Given the description of an element on the screen output the (x, y) to click on. 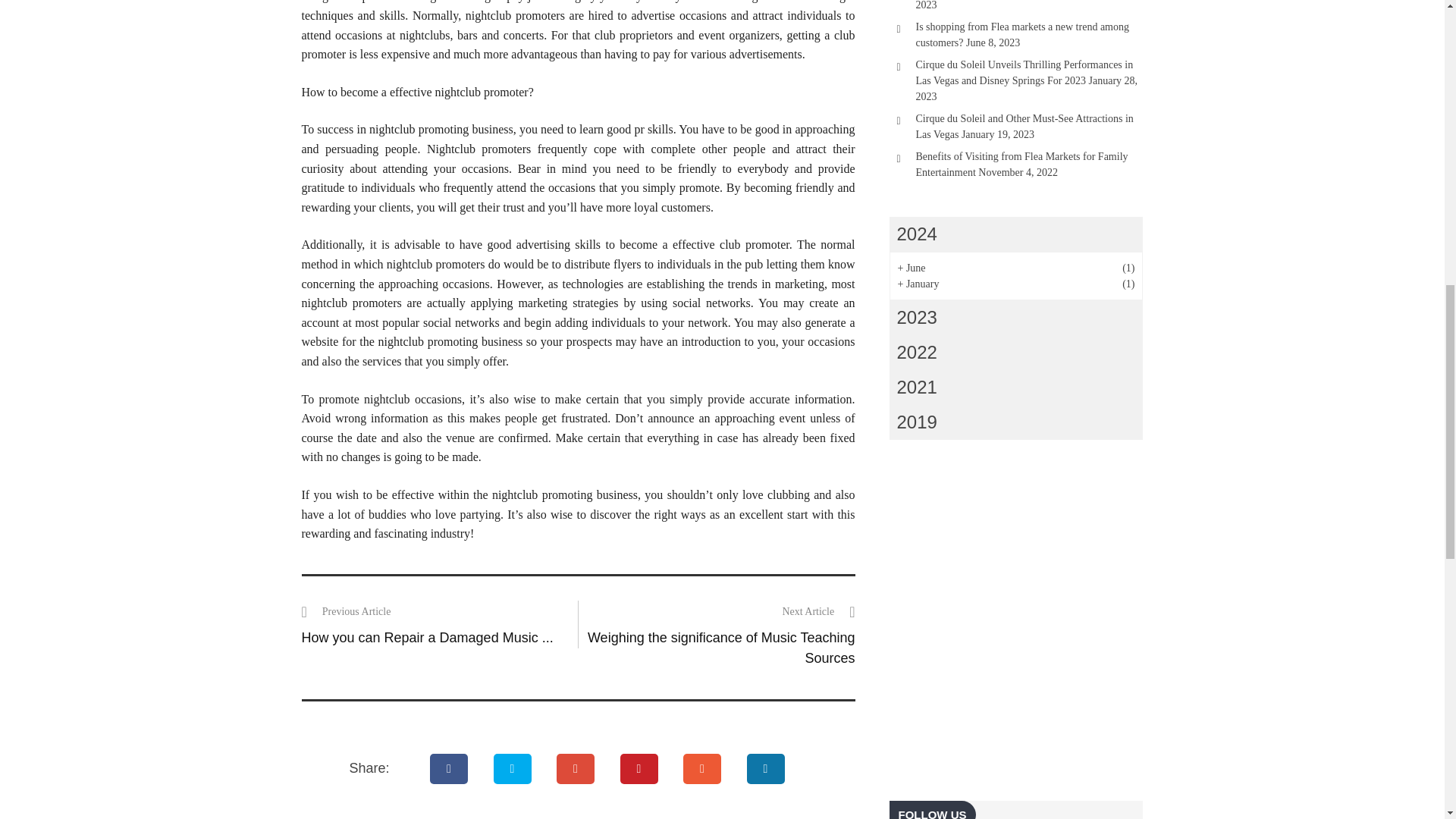
Pinterest (639, 768)
Weighing the significance of Music Teaching Sources (722, 647)
Google Plus (575, 768)
Twitter (513, 768)
Linkedin (765, 768)
How you can Repair a Damaged Music ... (427, 637)
Stumbleupon (702, 768)
Facebook (448, 768)
